Given the description of an element on the screen output the (x, y) to click on. 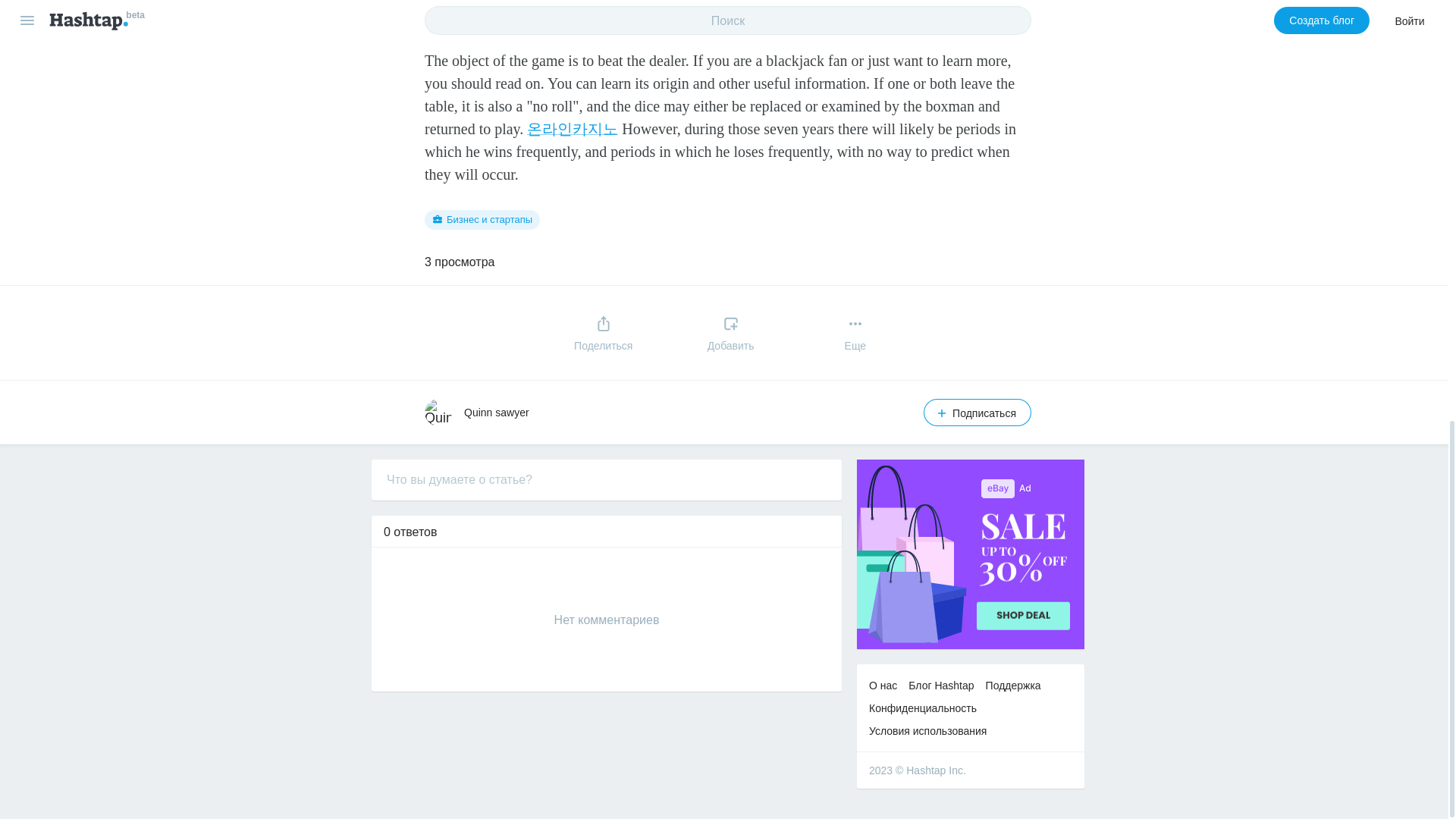
Quinn sawyer (496, 412)
Q (438, 411)
